Given the description of an element on the screen output the (x, y) to click on. 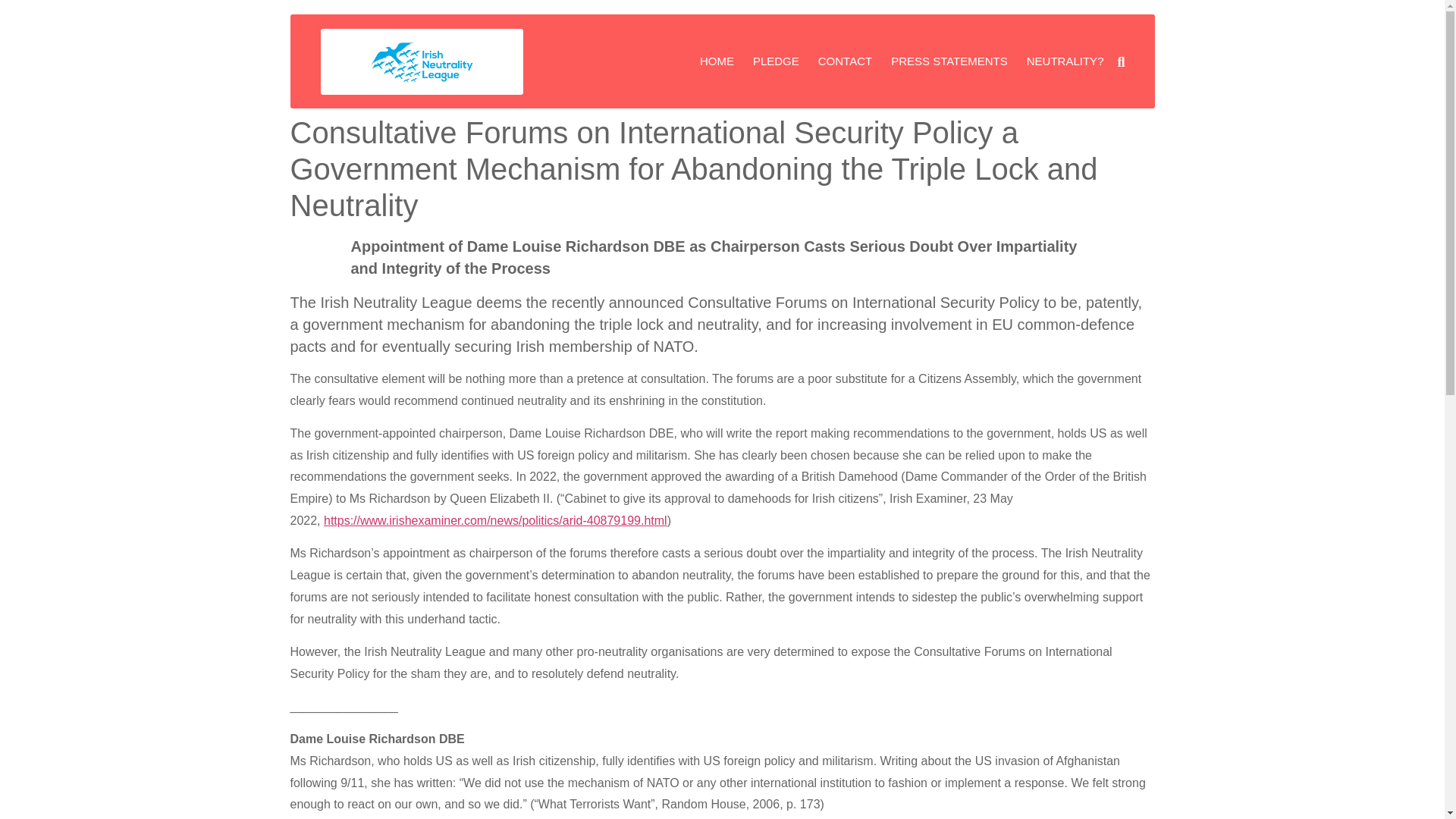
PRESS STATEMENTS (949, 61)
CONTACT (845, 61)
HOME (716, 61)
PLEDGE (775, 61)
NEUTRALITY? (1064, 61)
